Given the description of an element on the screen output the (x, y) to click on. 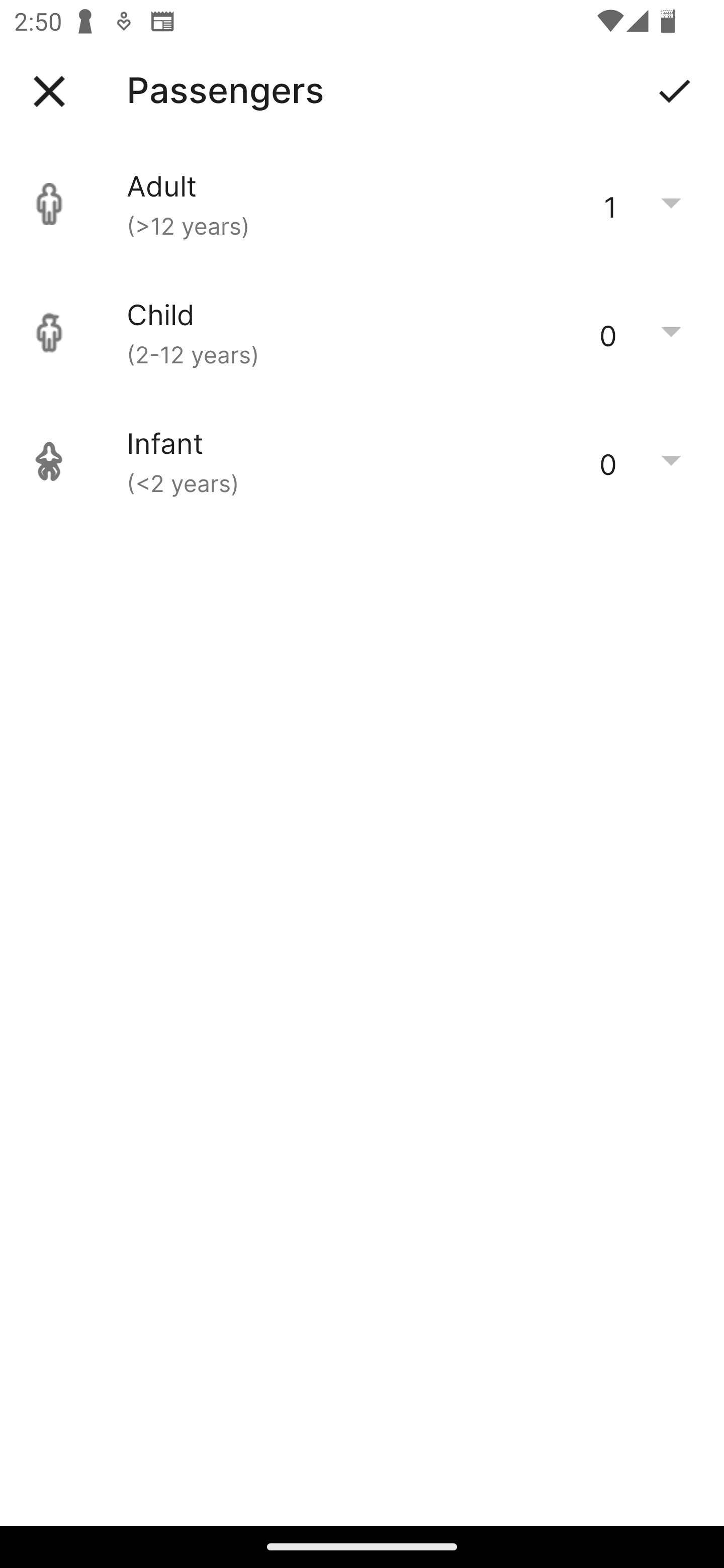
Adult (>12 years) 1 (362, 204)
Child (2-12 years) 0 (362, 332)
Infant (<2 years) 0 (362, 461)
